Given the description of an element on the screen output the (x, y) to click on. 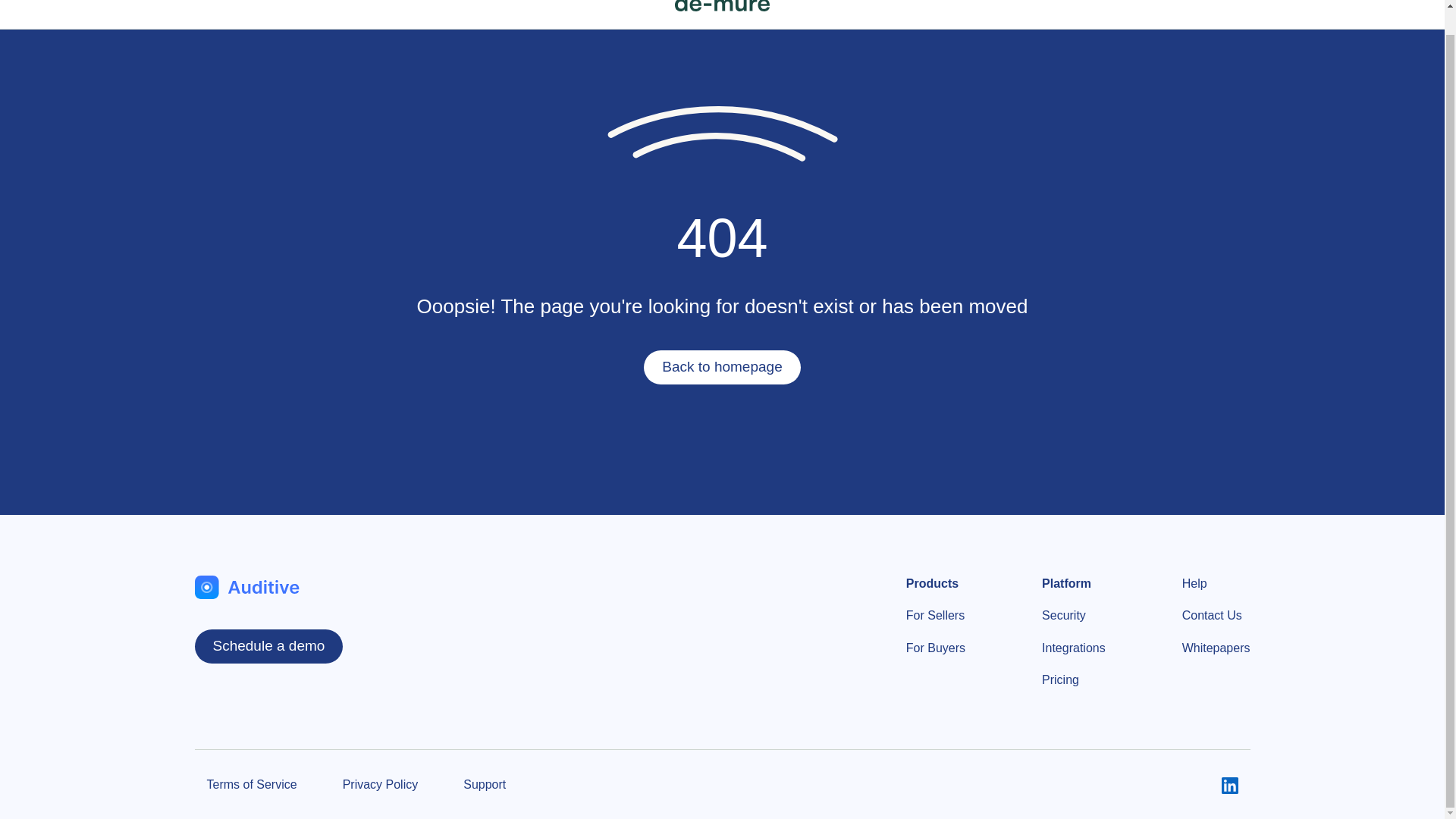
Help (1194, 583)
Pricing (1060, 679)
Support (484, 784)
Integrations (1073, 647)
Whitepapers (1216, 647)
Privacy Policy (380, 784)
For Buyers (935, 647)
Contact Us (1211, 615)
Schedule a demo (267, 646)
Security (1064, 615)
